Given the description of an element on the screen output the (x, y) to click on. 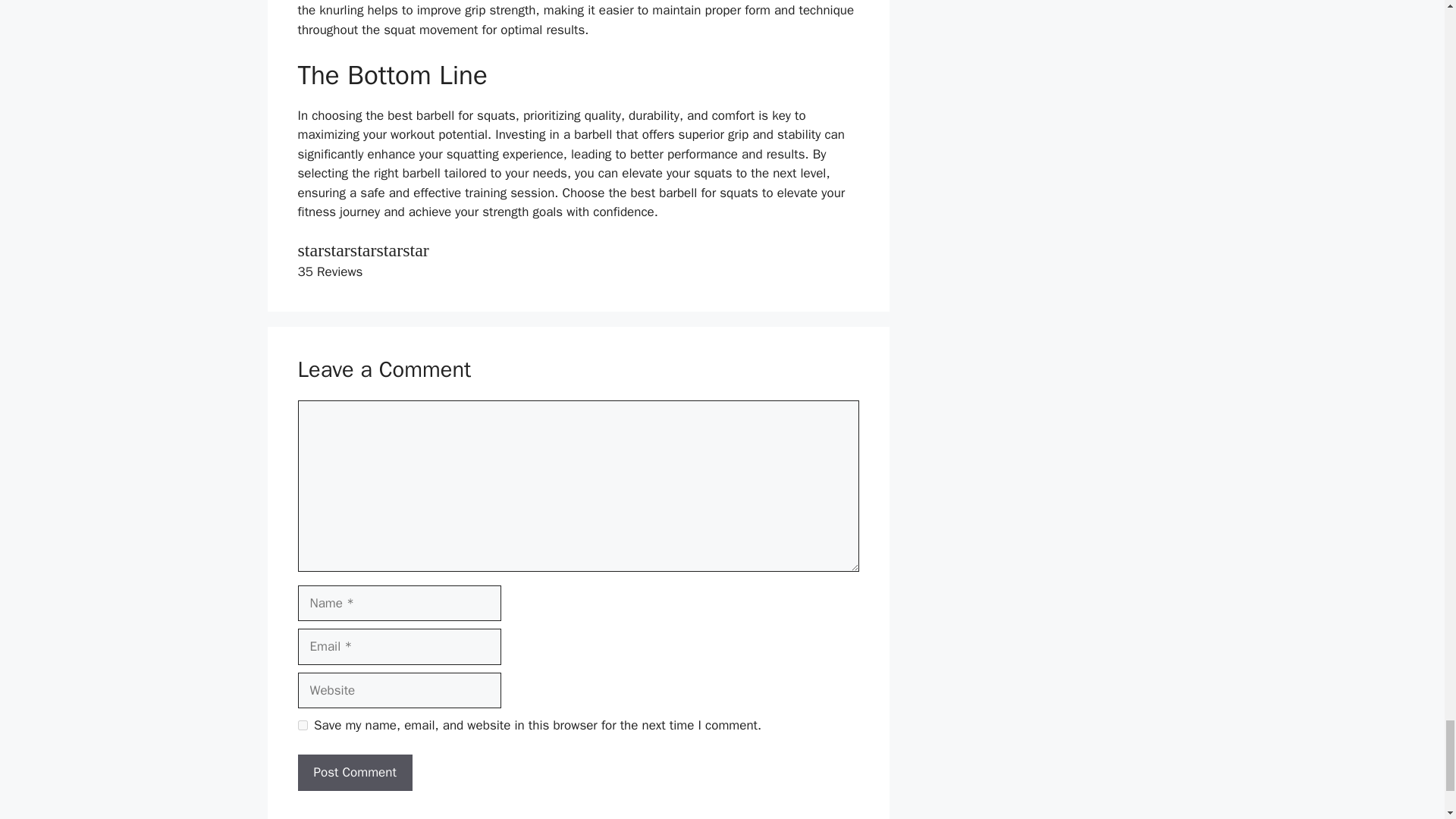
yes (302, 725)
Post Comment (354, 772)
